Given the description of an element on the screen output the (x, y) to click on. 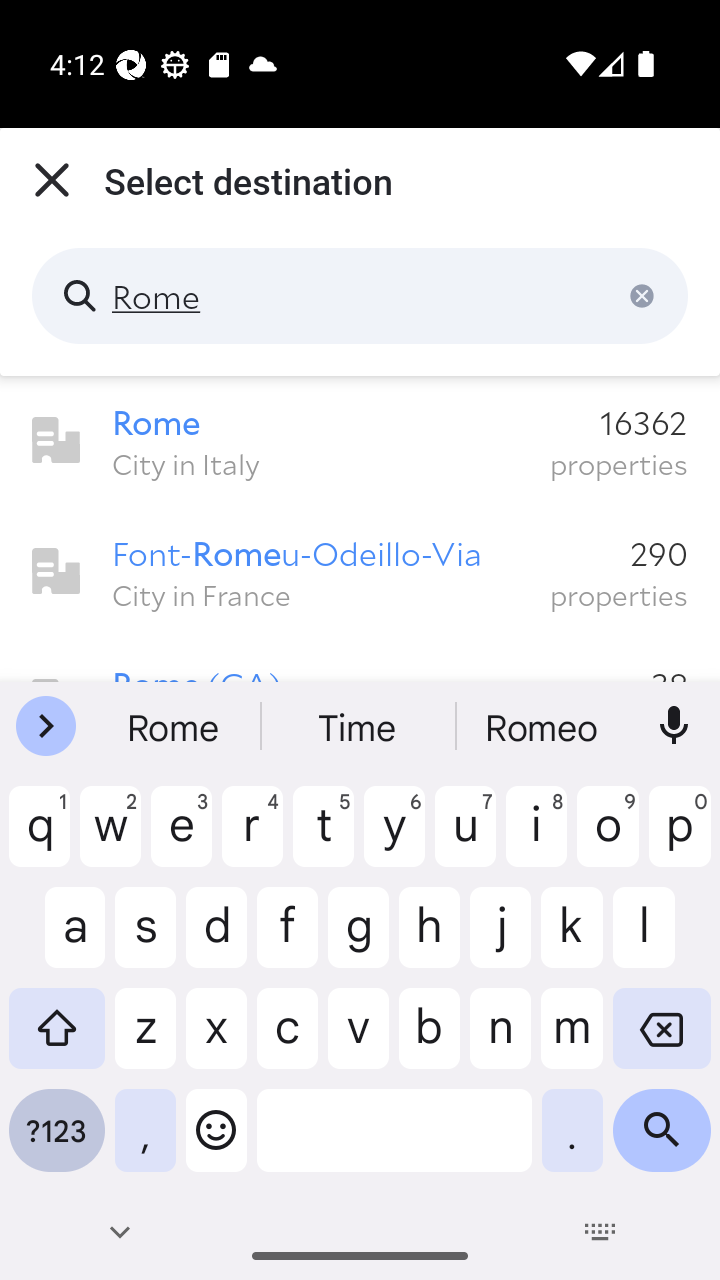
Rome (359, 296)
Rome 16362 City in Italy properties (360, 441)
